Given the description of an element on the screen output the (x, y) to click on. 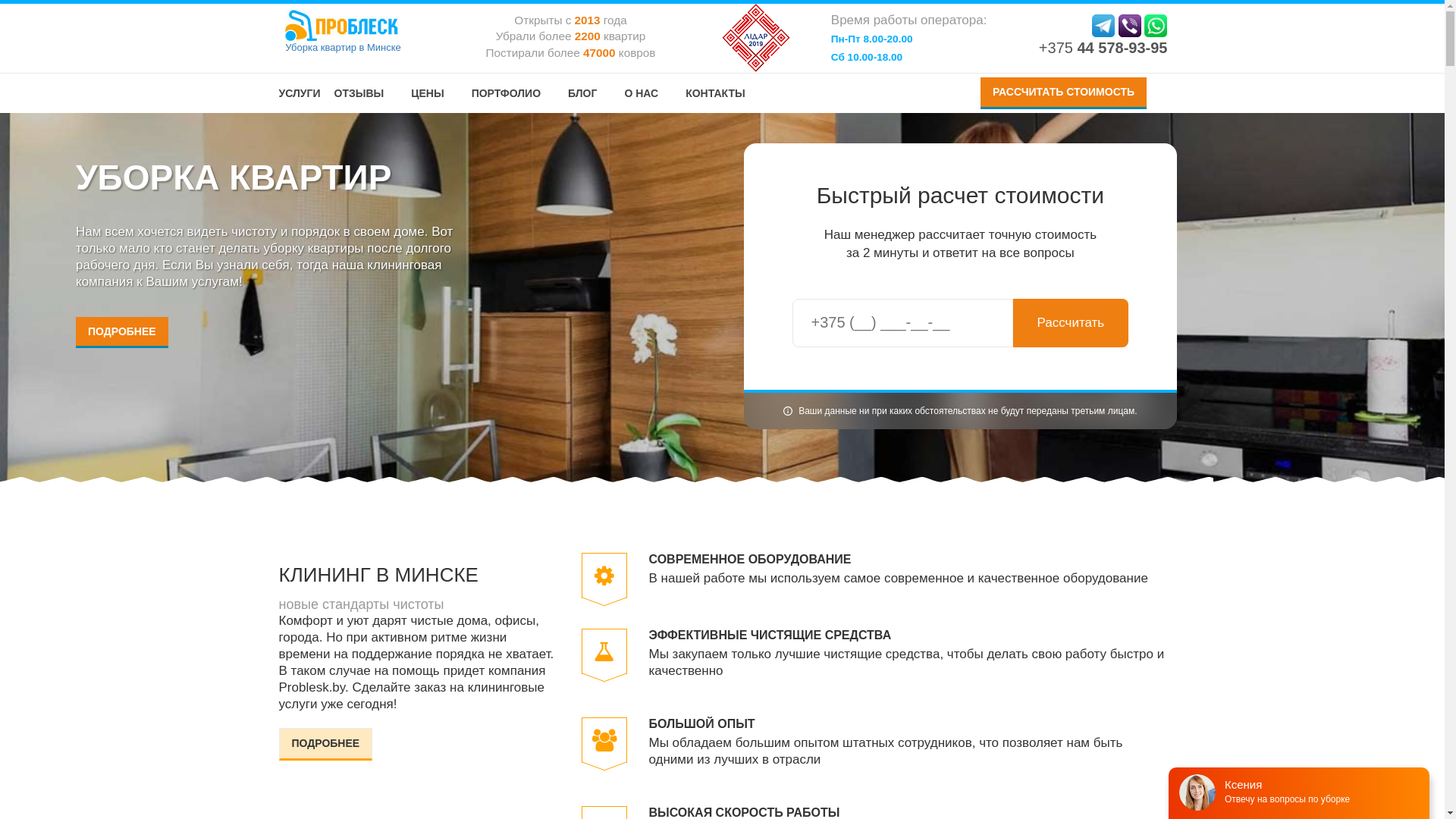
+375 44 578-93-95 Element type: text (1102, 47)
